Given the description of an element on the screen output the (x, y) to click on. 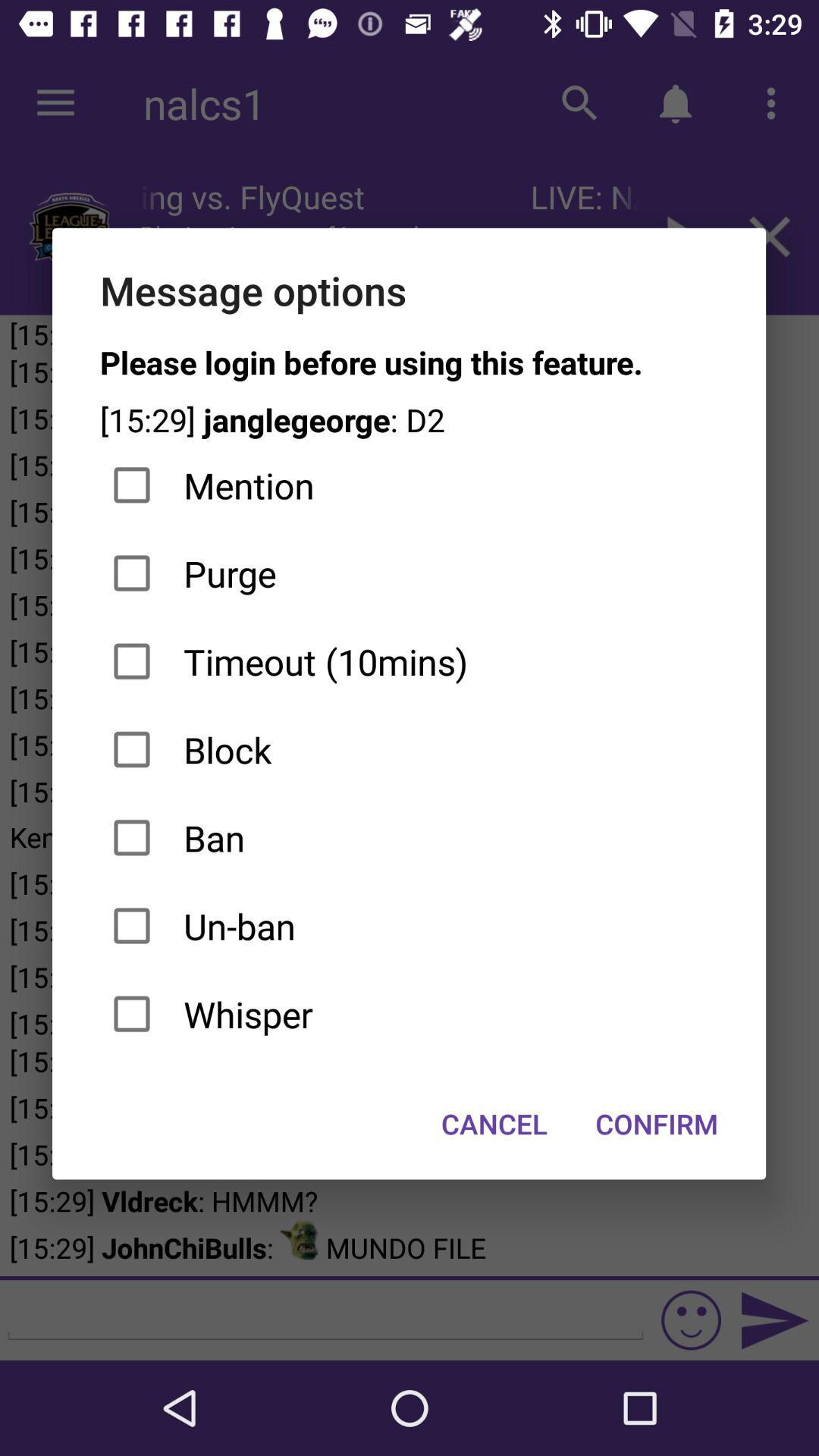
choose item above the purge icon (409, 485)
